Given the description of an element on the screen output the (x, y) to click on. 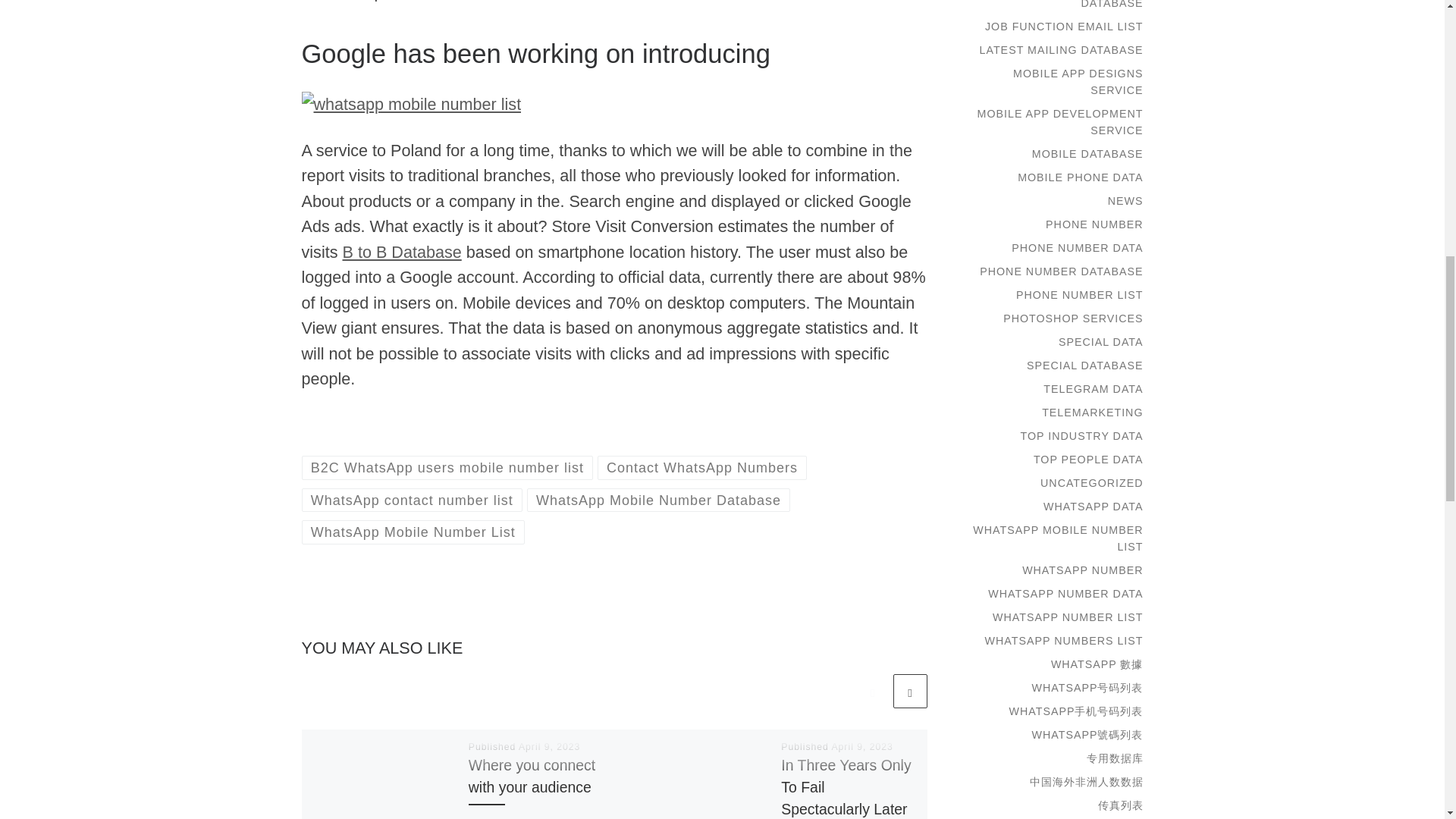
Next related articles (910, 691)
WhatsApp contact number list (411, 499)
View all posts in WhatsApp Mobile Number List (413, 531)
View all posts in WhatsApp contact number list (411, 499)
WhatsApp Mobile Number List (413, 531)
B to B Database (401, 251)
Previous related articles (872, 691)
April 9, 2023 (861, 747)
In Three Years Only To Fail Spectacularly Later (845, 786)
Where you connect with your audience (531, 775)
Contact WhatsApp Numbers (702, 467)
View all posts in Contact WhatsApp Numbers (702, 467)
B2C WhatsApp users mobile number list (447, 467)
View all posts in WhatsApp Mobile Number Database (658, 499)
